Given the description of an element on the screen output the (x, y) to click on. 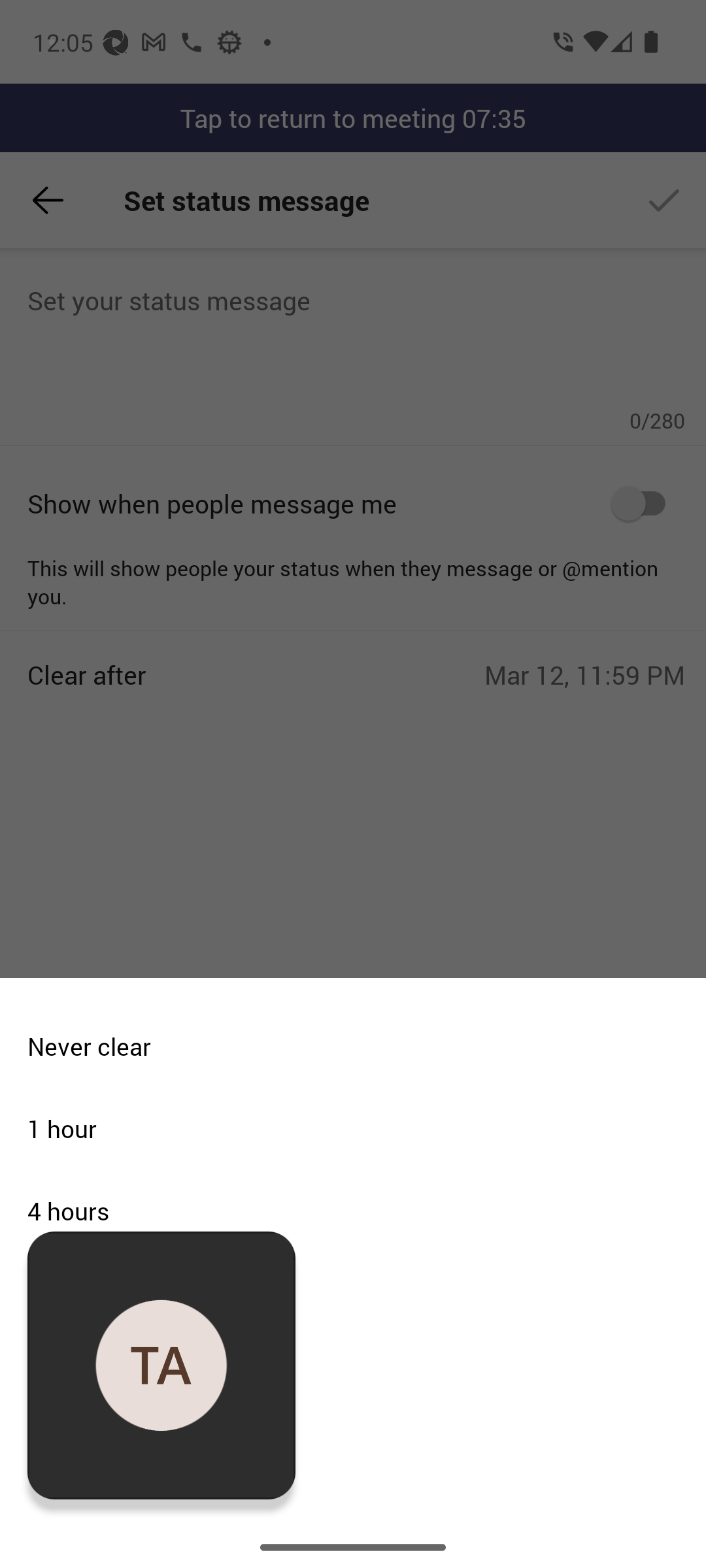
Never clear (346, 1046)
1 hour (346, 1128)
4 hours (346, 1210)
